Given the description of an element on the screen output the (x, y) to click on. 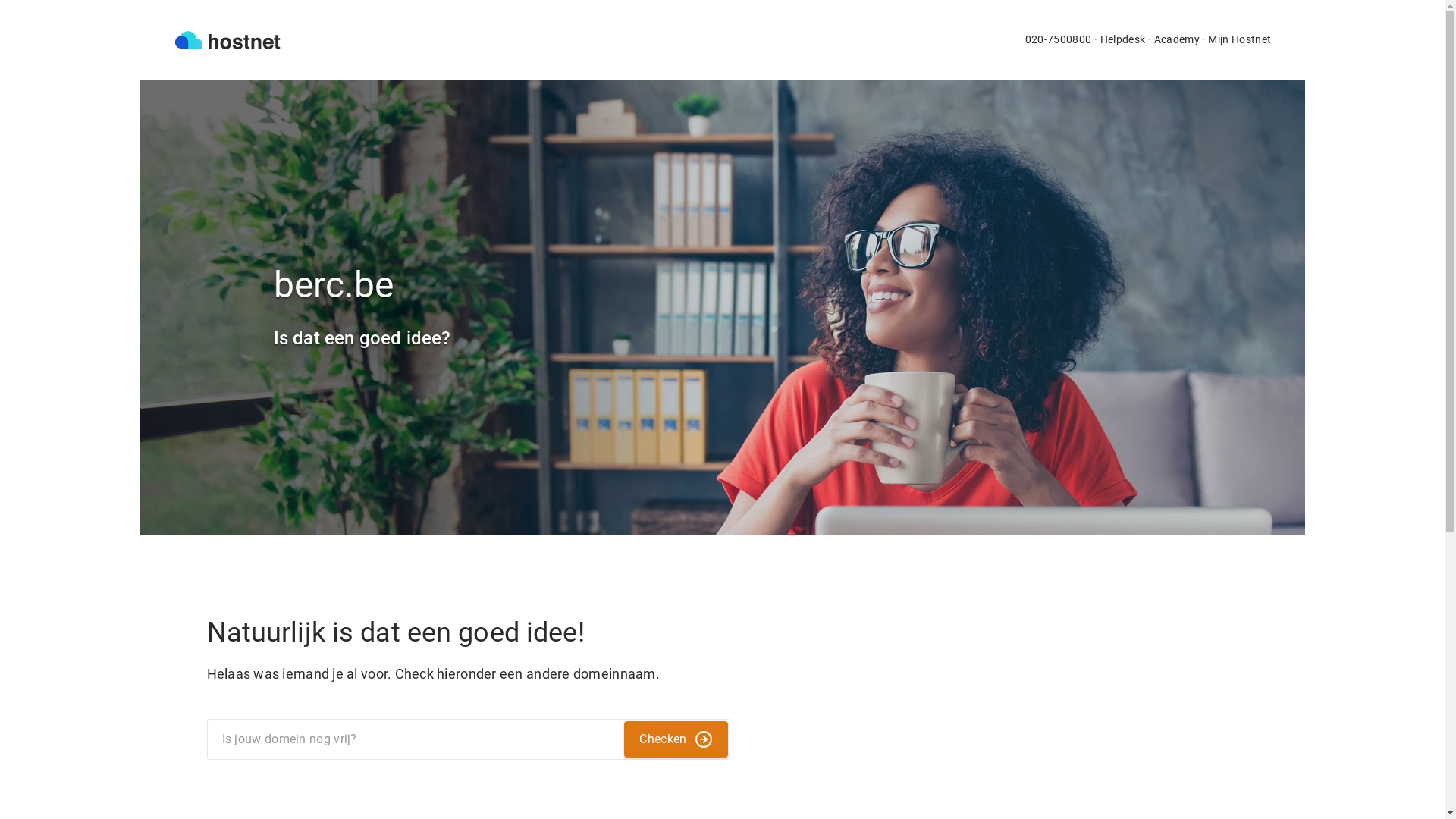
Domeinregistratie en hosting bij Hostnet.nl Element type: hover (226, 39)
Checken Element type: text (675, 739)
Mijn Hostnet Element type: text (1239, 39)
Helpdesk Element type: text (1122, 39)
Academy Element type: text (1176, 39)
